Given the description of an element on the screen output the (x, y) to click on. 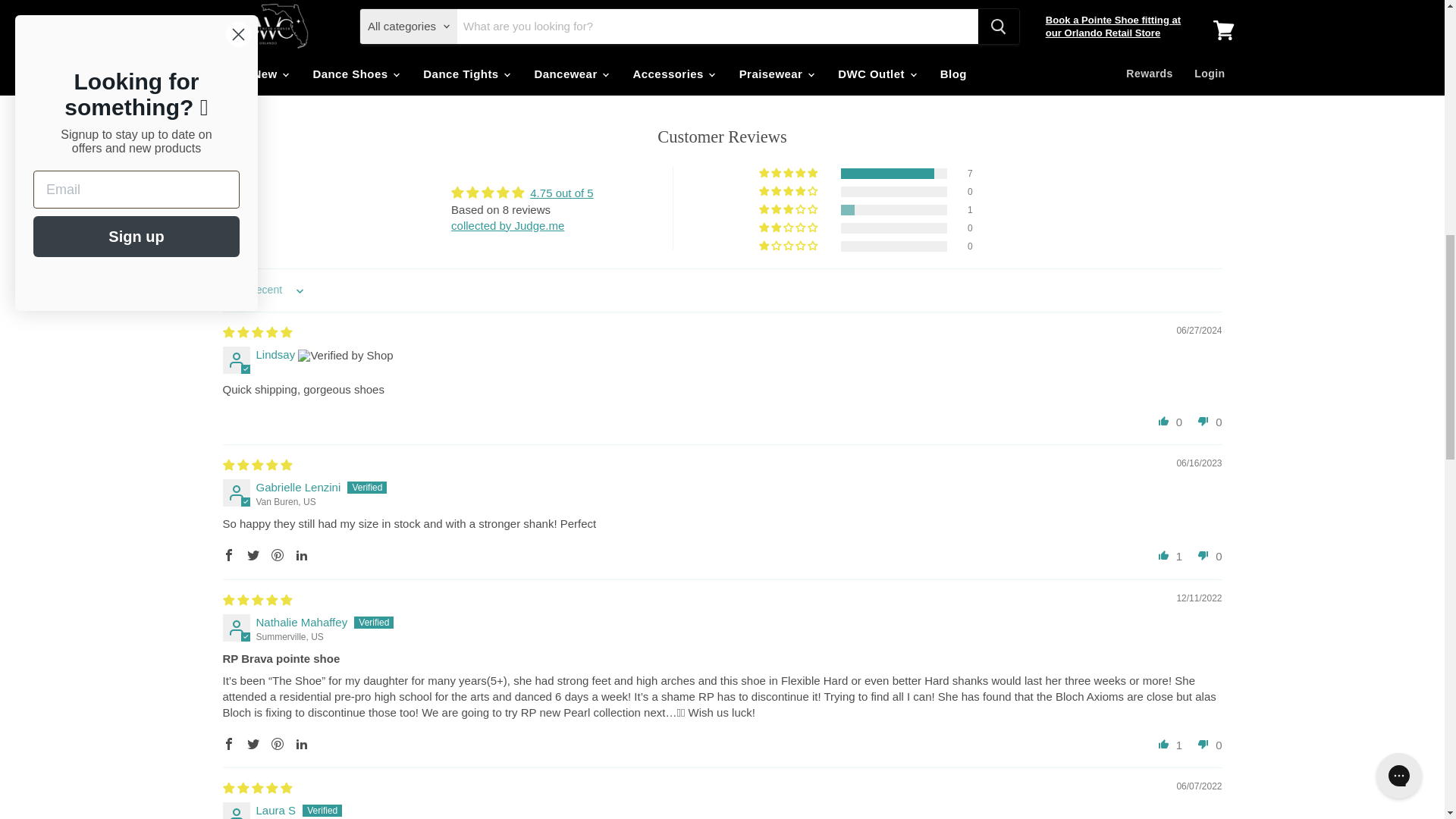
Facebook (228, 554)
up (1163, 743)
Twitter (252, 743)
Pinterest (276, 554)
Twitter (252, 554)
Facebook (228, 743)
down (1203, 554)
down (1203, 420)
down (1203, 743)
up (1163, 554)
Pinterest (276, 743)
LinkedIn (301, 743)
LinkedIn (301, 554)
up (1163, 420)
